Given the description of an element on the screen output the (x, y) to click on. 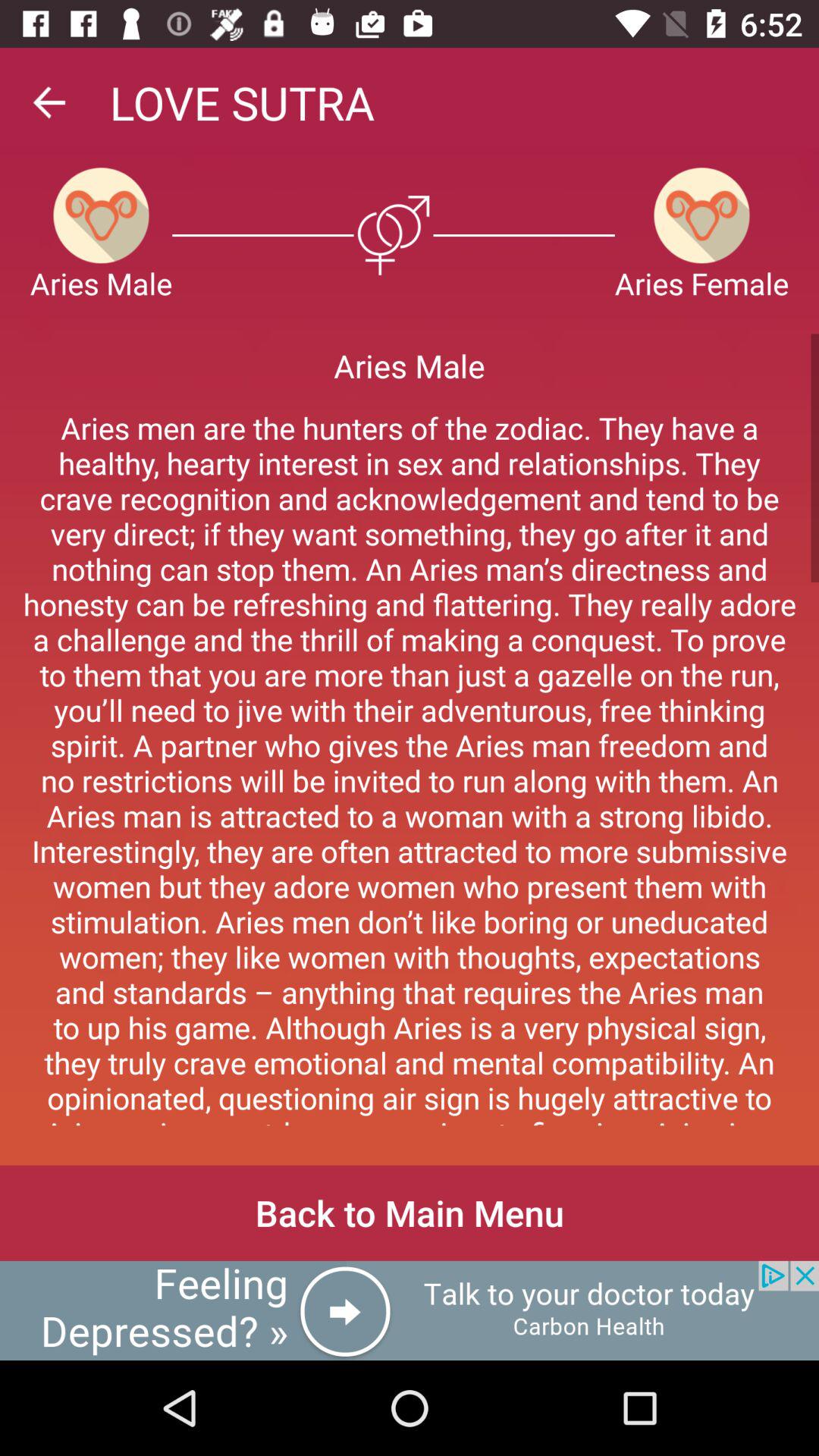
go to previous (49, 102)
